Given the description of an element on the screen output the (x, y) to click on. 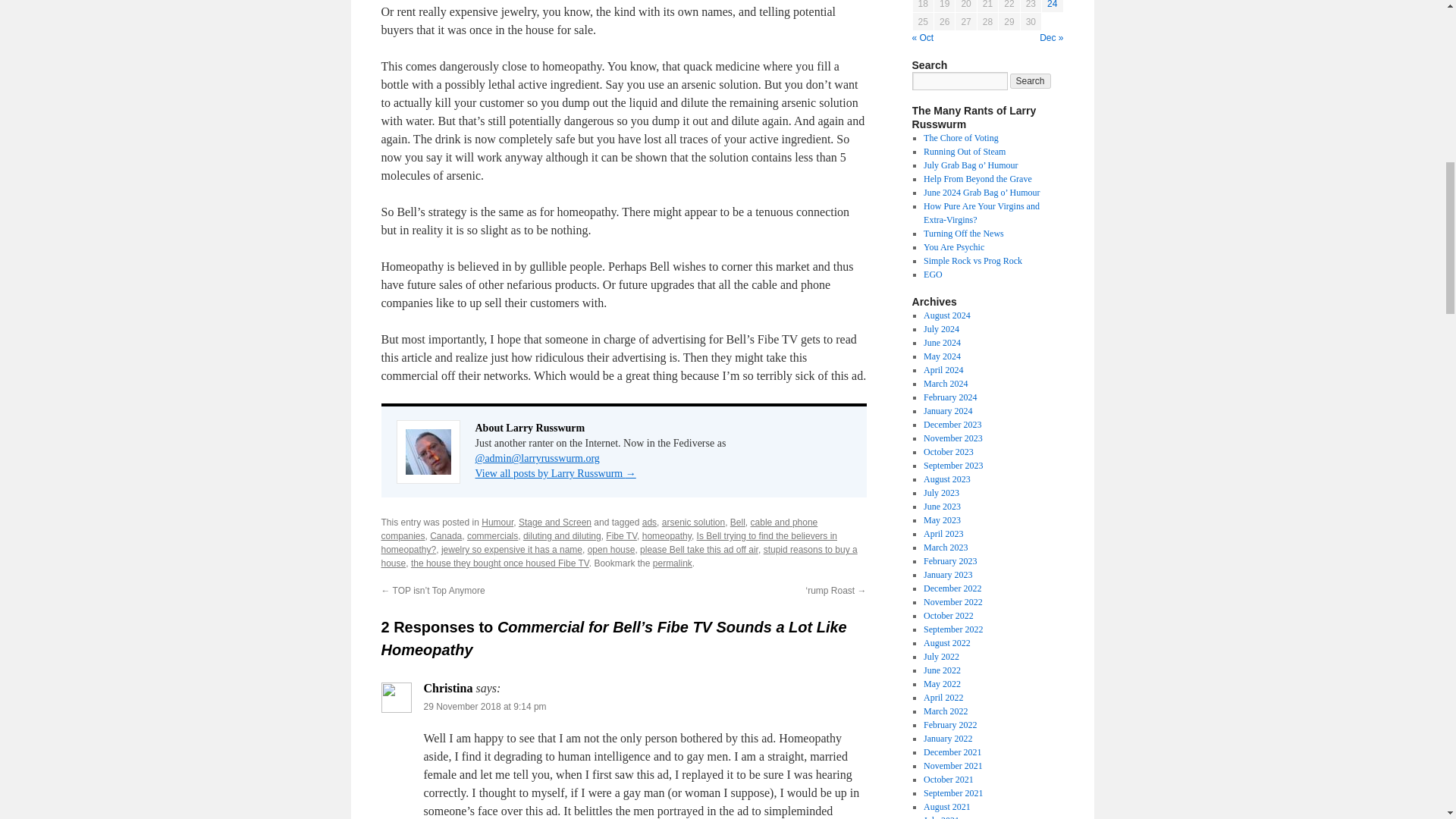
ads (649, 521)
commercials (492, 535)
Humour (497, 521)
homeopathy (666, 535)
diluting and diluting (561, 535)
Search (1030, 80)
Canada (445, 535)
Fibe TV (621, 535)
Bell (737, 521)
arsenic solution (693, 521)
